Given the description of an element on the screen output the (x, y) to click on. 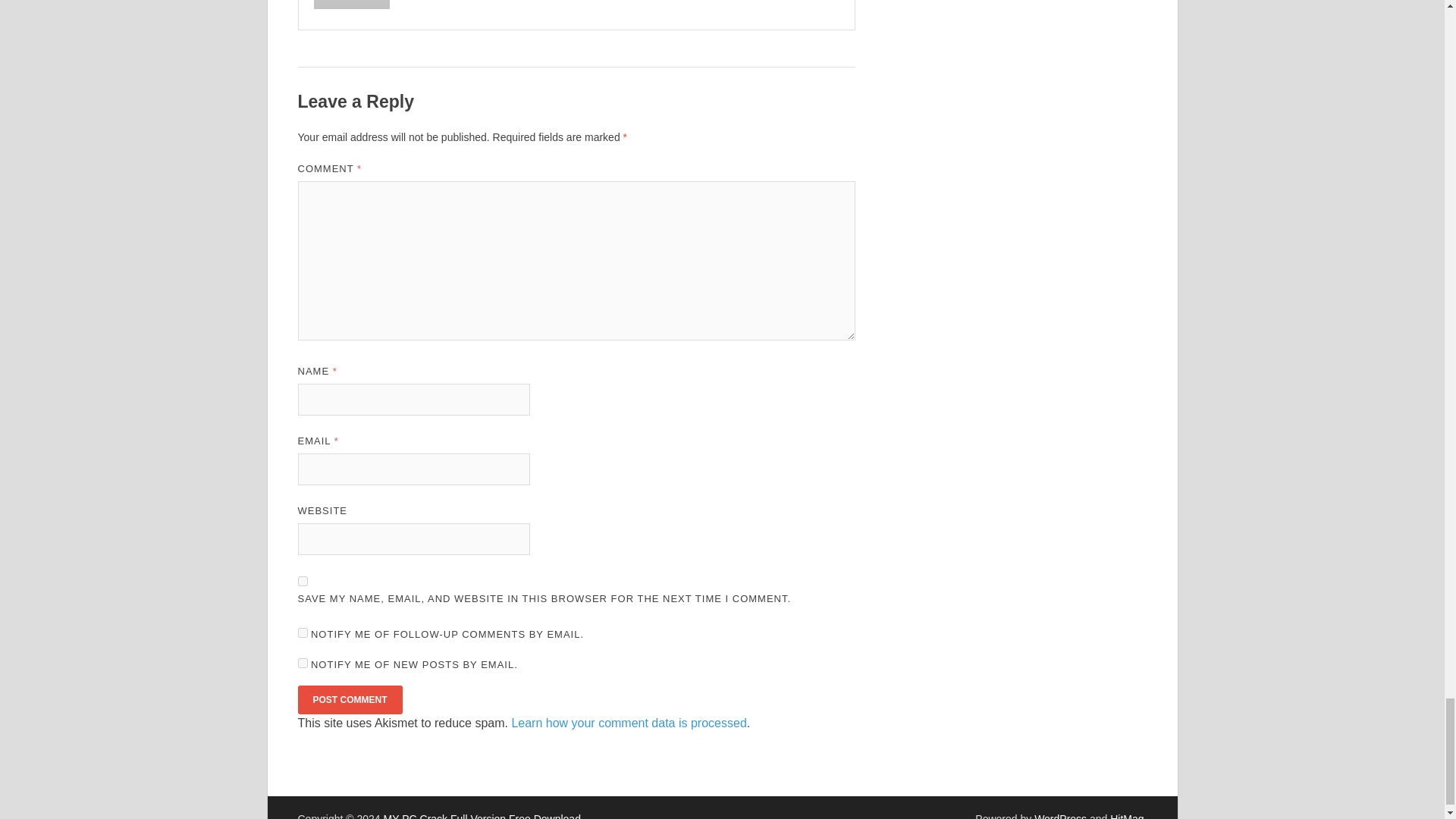
subscribe (302, 663)
yes (302, 581)
subscribe (302, 633)
Post Comment (349, 699)
